Given the description of an element on the screen output the (x, y) to click on. 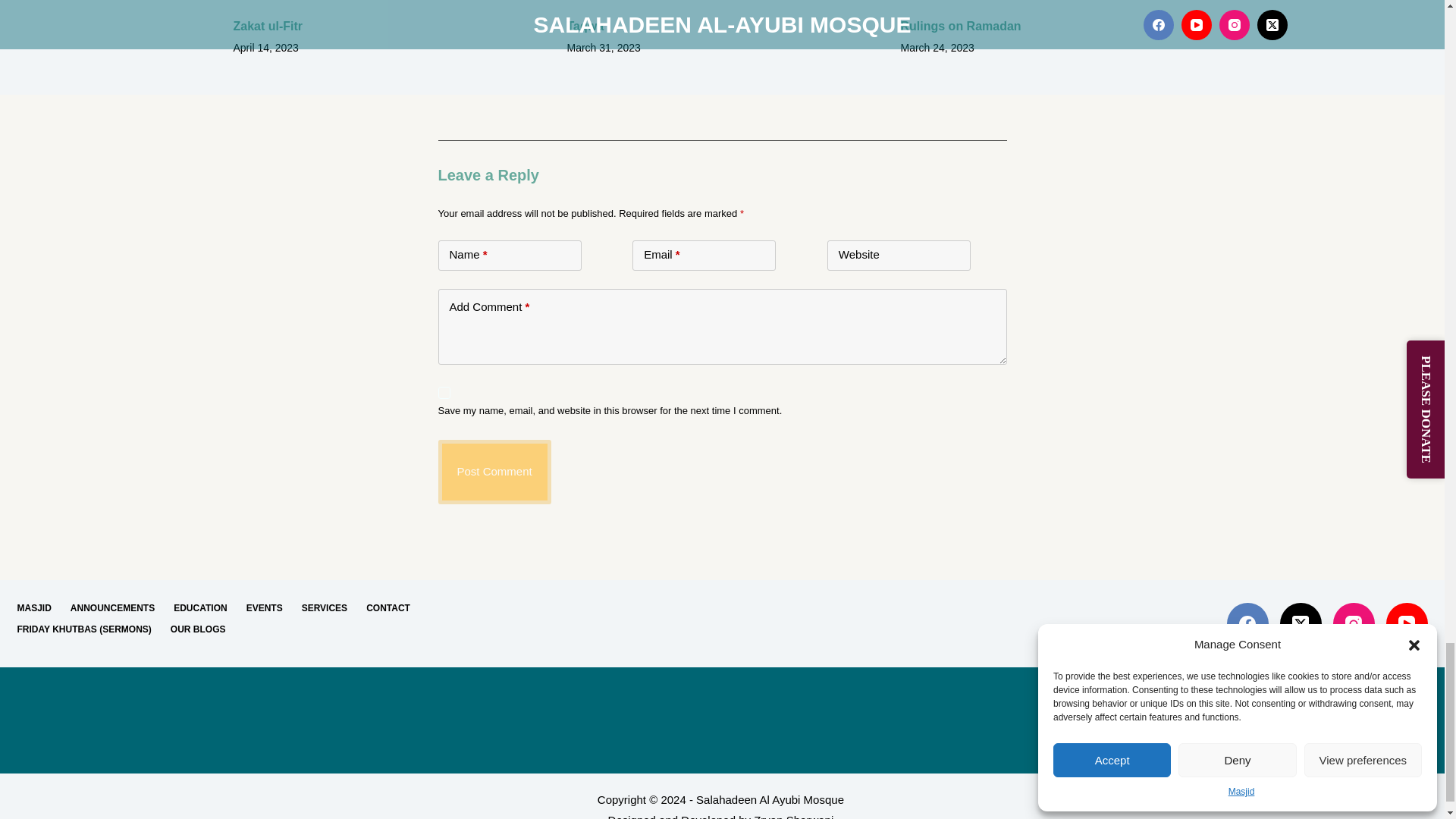
yes (443, 392)
